Given the description of an element on the screen output the (x, y) to click on. 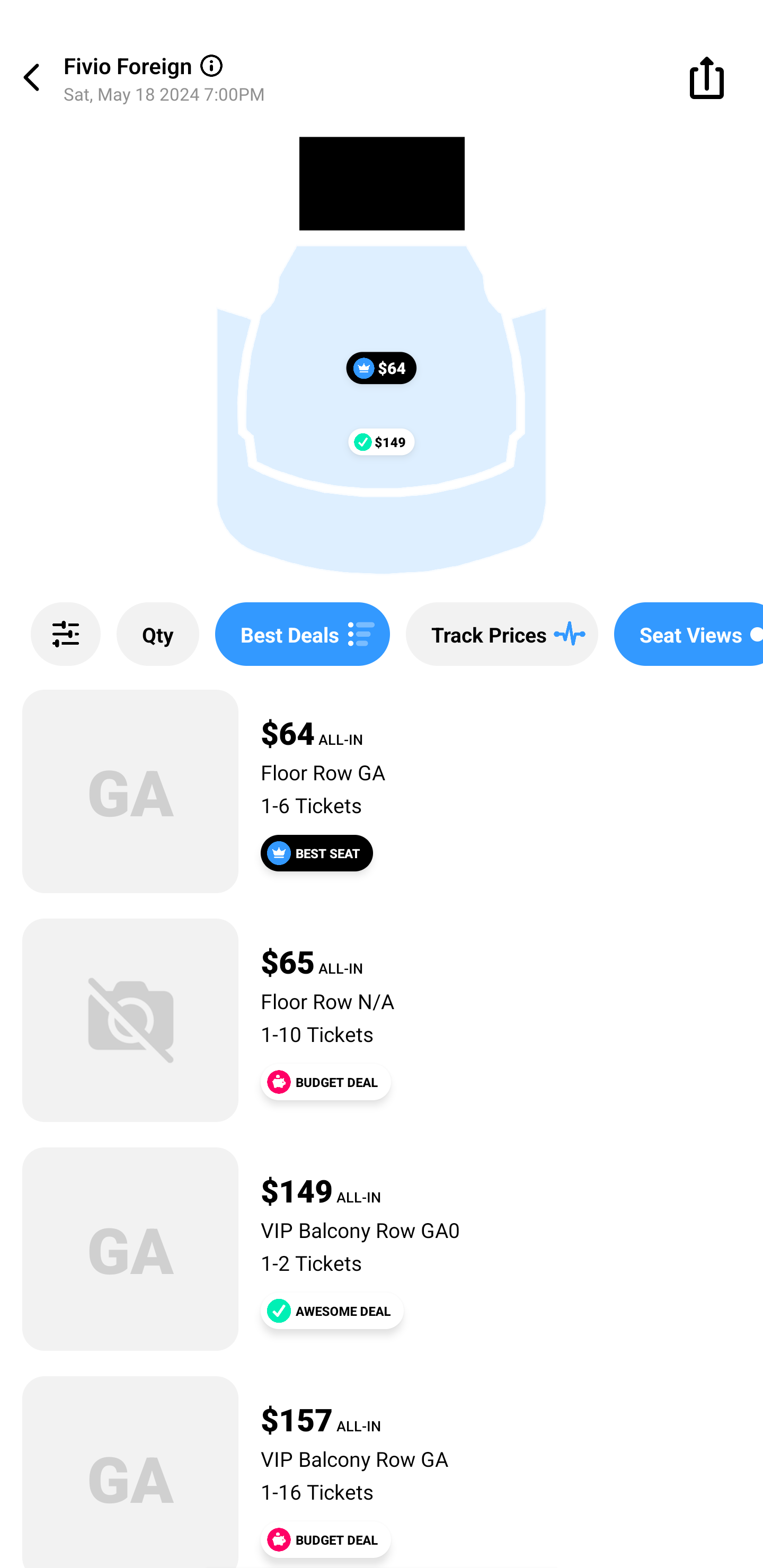
$64 (381, 367)
$149 (381, 441)
Qty (157, 634)
Best Deals (302, 634)
Track Prices (501, 634)
Seat Views (688, 634)
BEST SEAT (316, 852)
BUDGET DEAL (325, 1081)
AWESOME DEAL (331, 1310)
BUDGET DEAL (325, 1539)
